Given the description of an element on the screen output the (x, y) to click on. 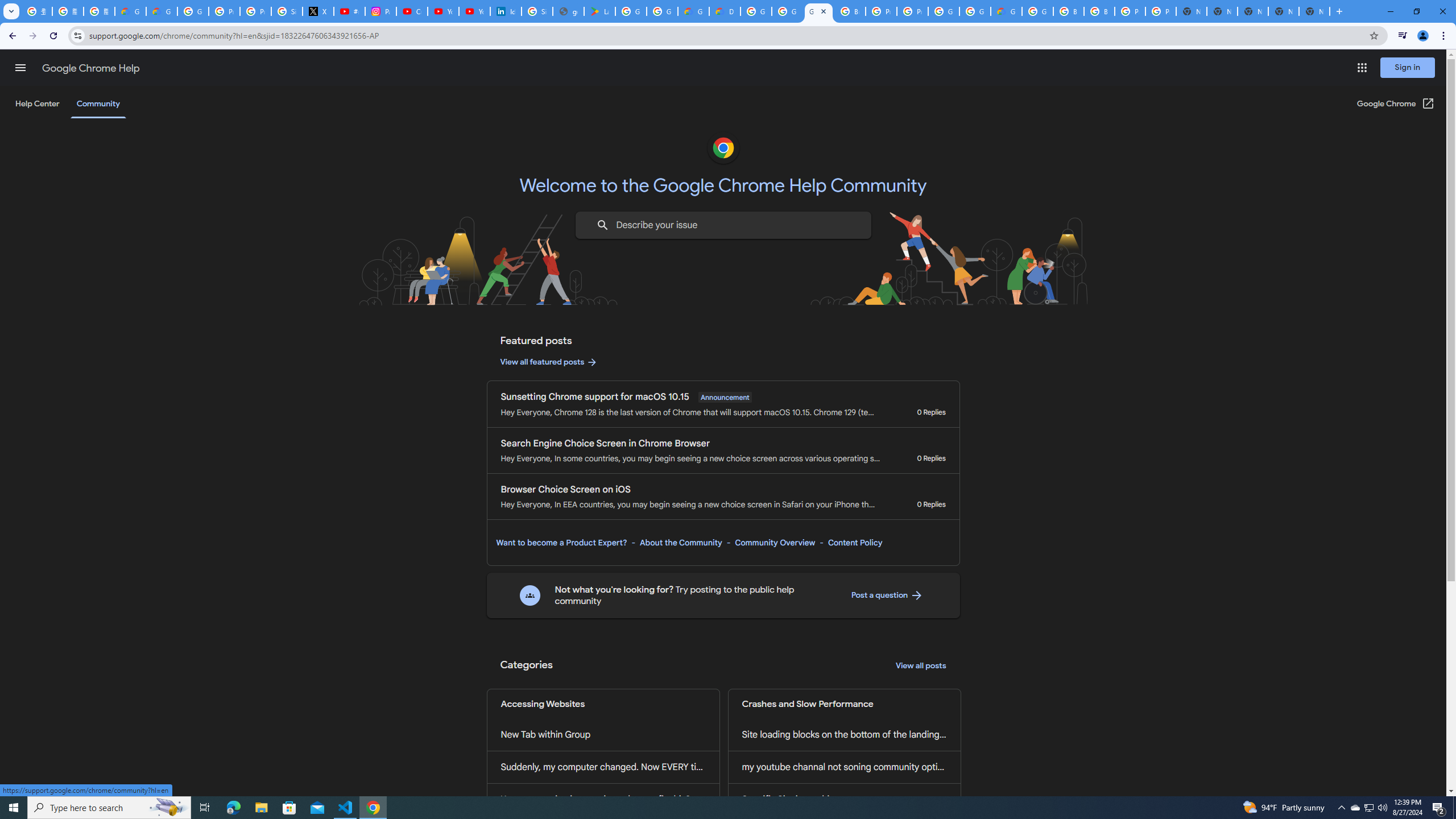
Post a question  (886, 595)
Google Cloud Platform (1037, 11)
Google Chrome (Open in a new window) (1395, 103)
Google Cloud Privacy Notice (161, 11)
View all featured posts (548, 361)
Describe your issue to find information that might help you. (722, 225)
